Given the description of an element on the screen output the (x, y) to click on. 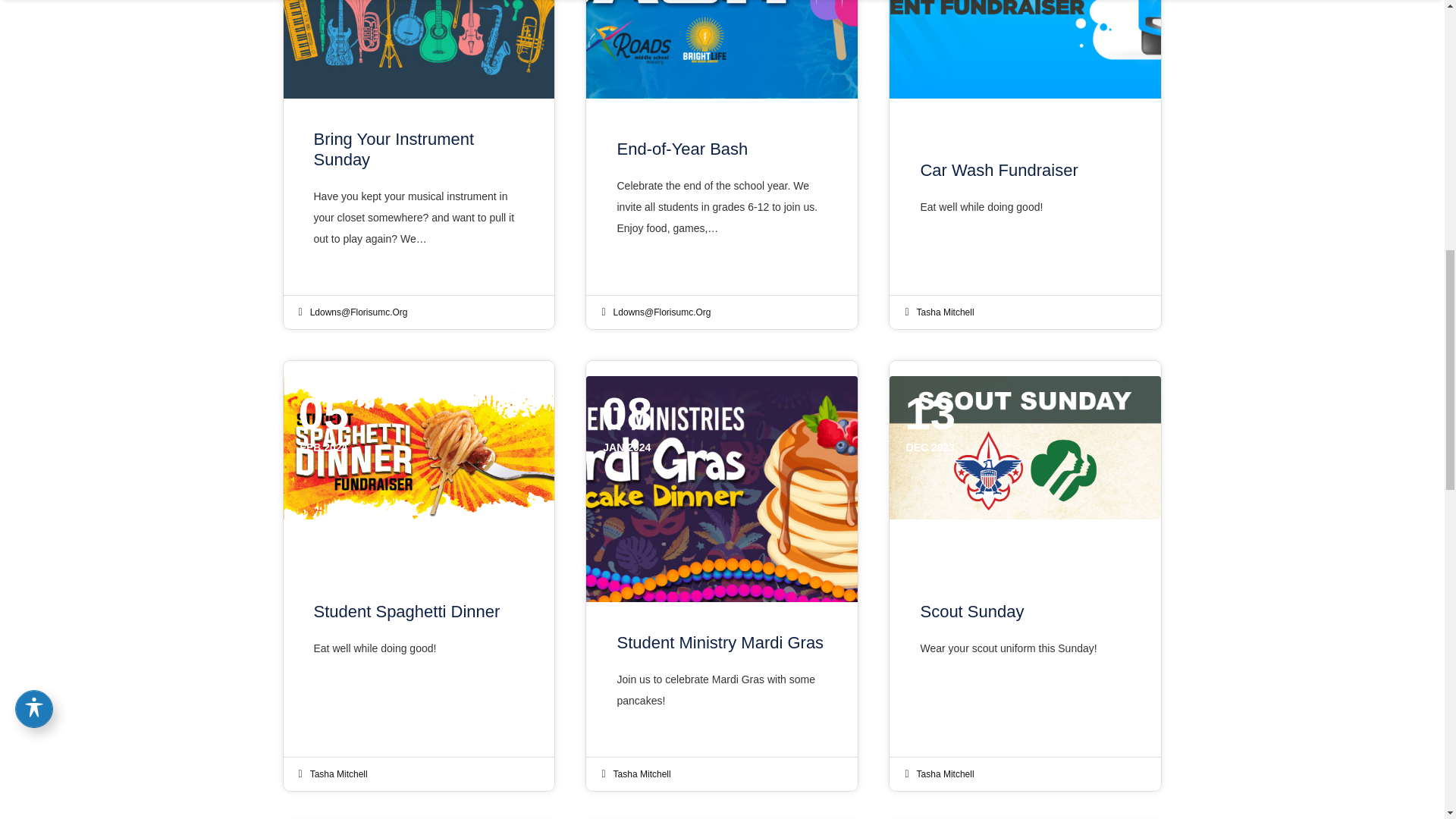
Posts by Tasha Mitchell (945, 312)
Student Spaghetti Dinner (418, 637)
Permanent Link to End-of-Year Bash (721, 49)
Car Wash Fundraiser (1024, 196)
Permanent Link to Student Spaghetti Dinner (418, 447)
Permanent Link to Bring Your Instrument Sunday (418, 49)
End-of-Year Bash (721, 196)
Posts by Tasha Mitchell (339, 774)
Permanent Link to Car Wash Fundraiser (1024, 49)
Posts by Tasha Mitchell (641, 774)
Bring Your Instrument Sunday (418, 196)
Student Ministry Mardi Gras (721, 678)
Permanent Link to Student Ministry Mardi Gras (721, 488)
